Given the description of an element on the screen output the (x, y) to click on. 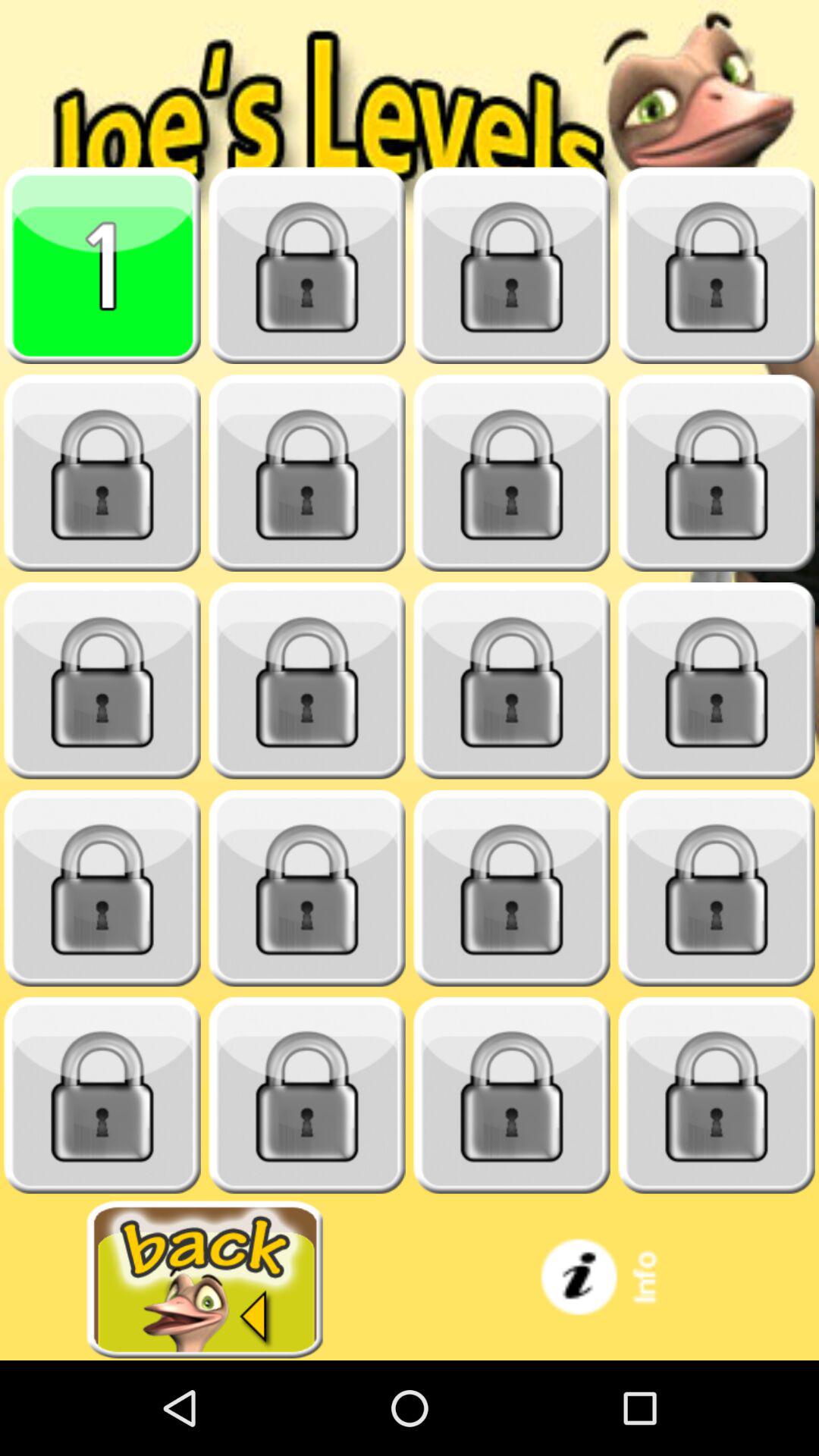
lock (102, 473)
